Given the description of an element on the screen output the (x, y) to click on. 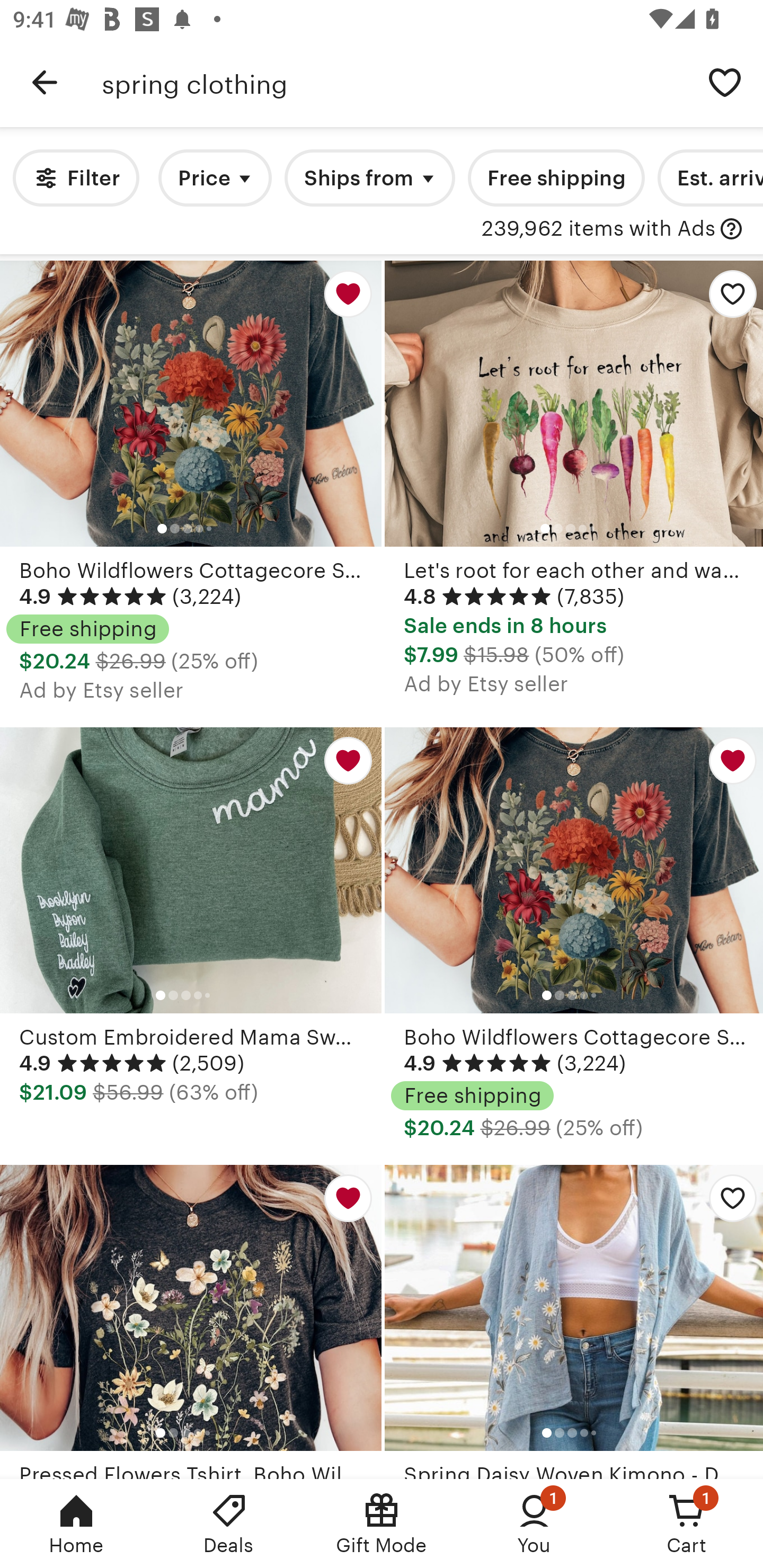
Navigate up (44, 82)
Save search (724, 81)
spring clothing (393, 82)
Filter (75, 177)
Price (214, 177)
Ships from (369, 177)
Free shipping (555, 177)
239,962 items with Ads (598, 228)
with Ads (730, 228)
Deals (228, 1523)
Gift Mode (381, 1523)
You, 1 new notification You (533, 1523)
Cart, 1 new notification Cart (686, 1523)
